Given the description of an element on the screen output the (x, y) to click on. 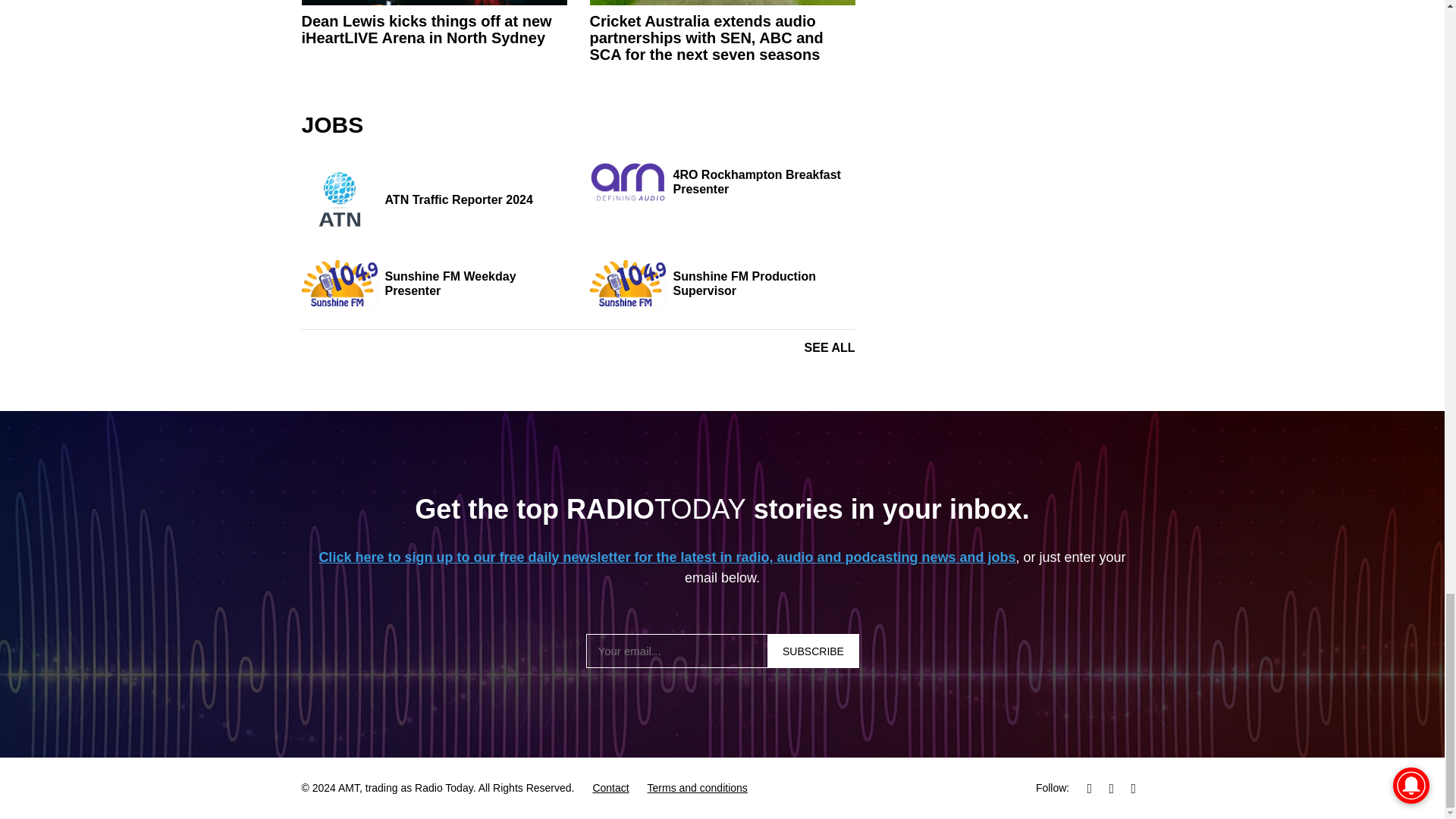
Subscribe (813, 650)
